Given the description of an element on the screen output the (x, y) to click on. 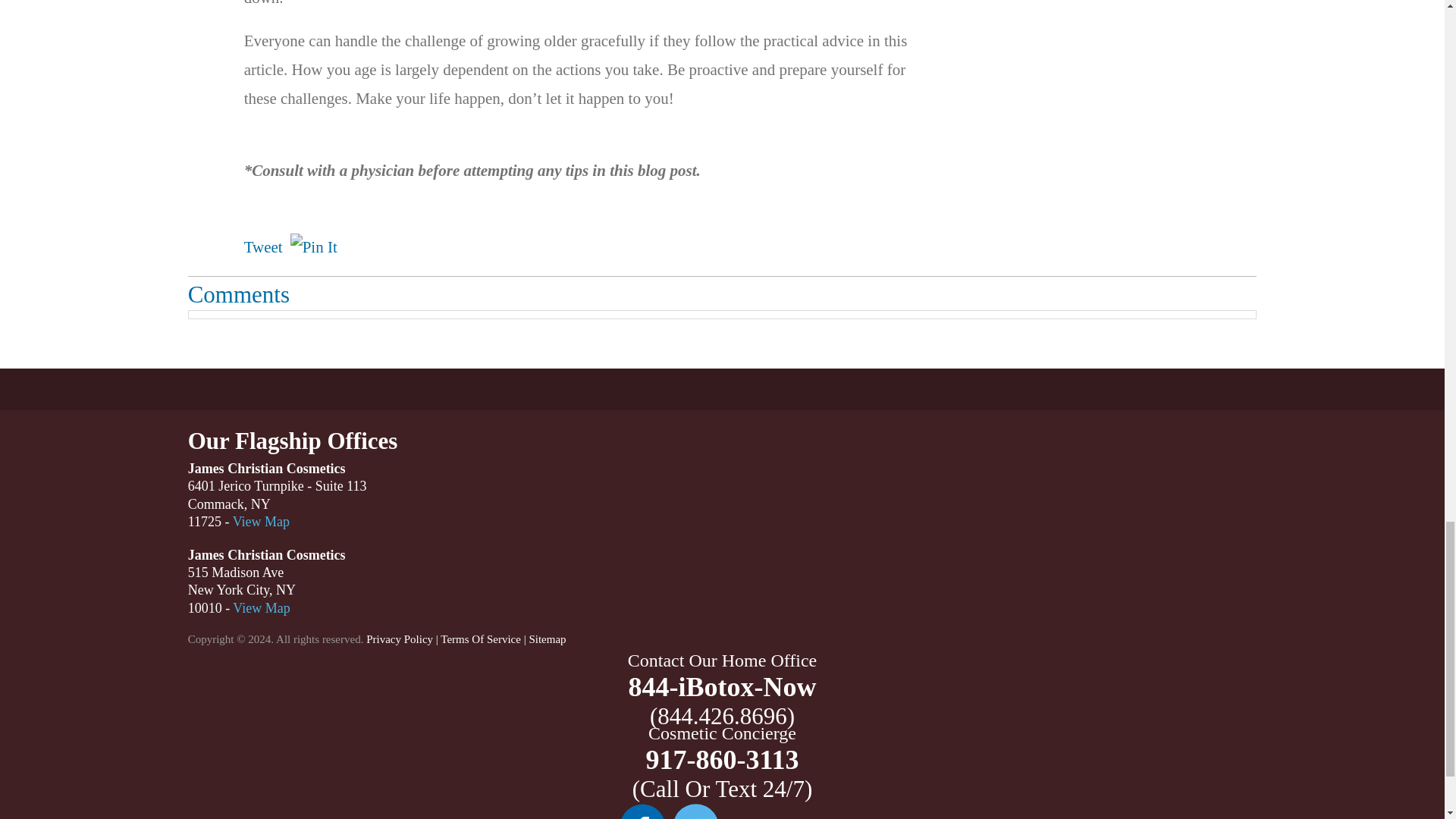
Comments (238, 294)
Sitemap (547, 639)
Pin It (313, 247)
Tweet (263, 247)
View Map (260, 521)
View Map (260, 607)
Privacy Policy (399, 639)
